Given the description of an element on the screen output the (x, y) to click on. 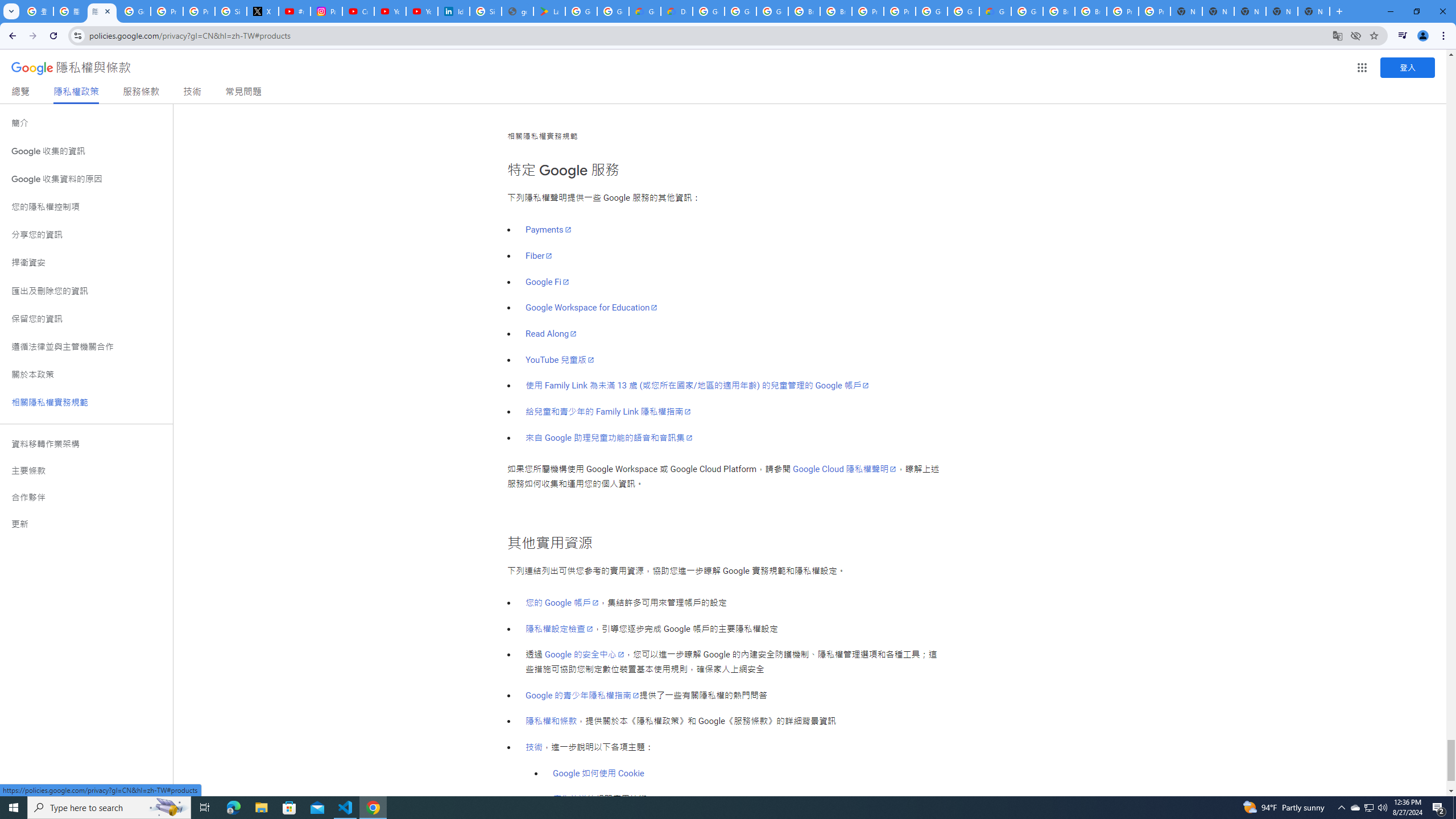
New Tab (1313, 11)
#nbabasketballhighlights - YouTube (294, 11)
Google Cloud Estimate Summary (995, 11)
